Given the description of an element on the screen output the (x, y) to click on. 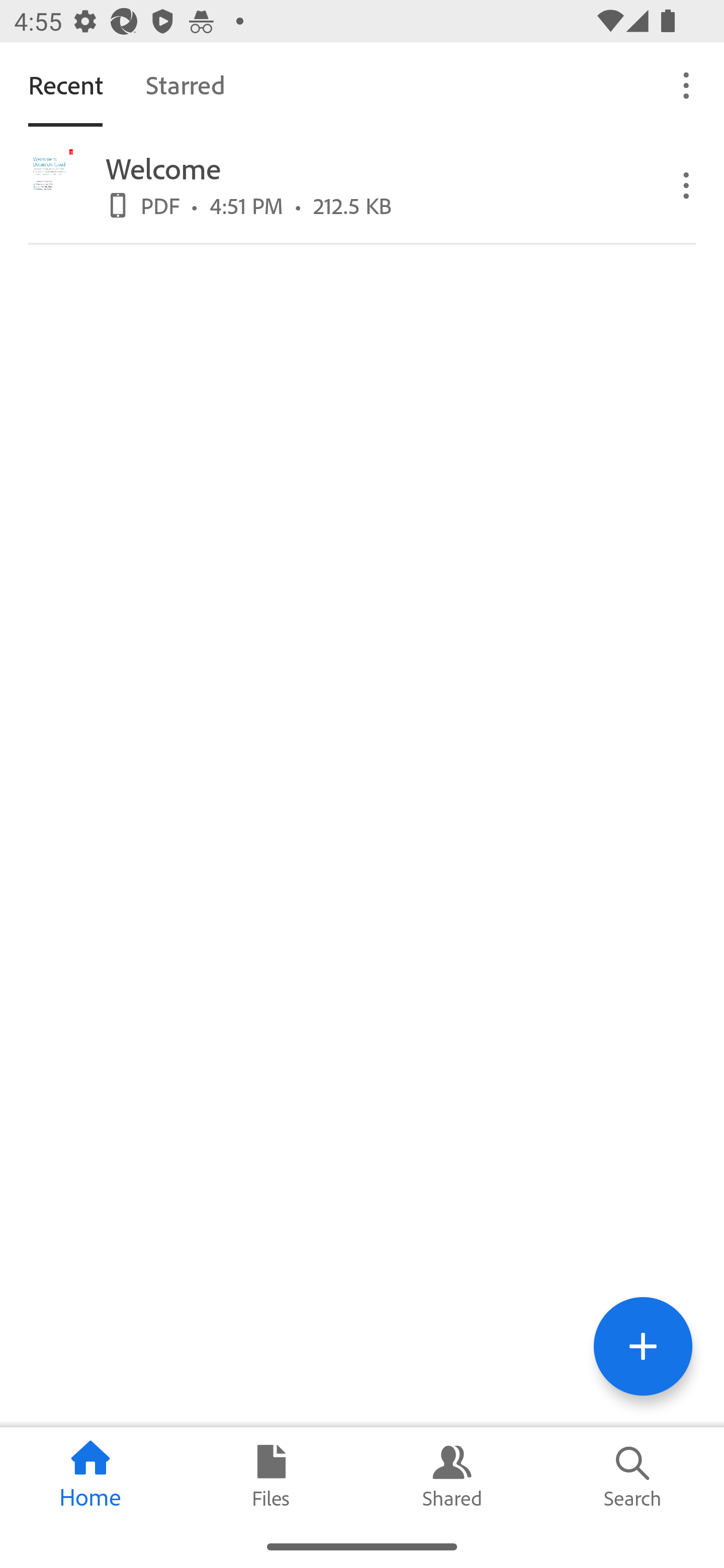
Recent (65, 84)
Starred (185, 84)
Overflow (687, 84)
Overflow (687, 184)
Tools (642, 1345)
Home (90, 1475)
Files (271, 1475)
Shared (452, 1475)
Search (633, 1475)
